Given the description of an element on the screen output the (x, y) to click on. 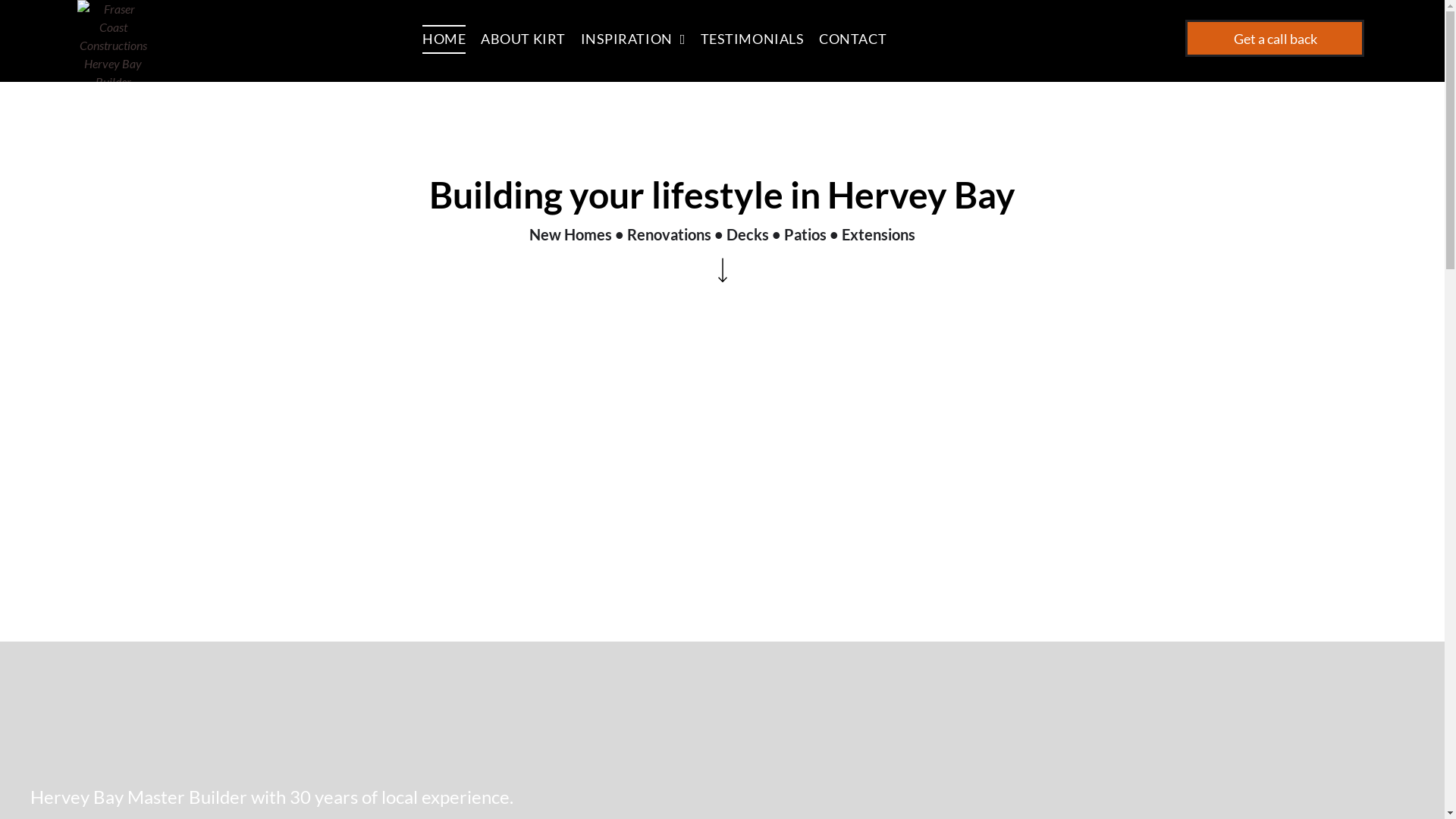
CONTACT Element type: text (860, 39)
INSPIRATION Element type: text (640, 39)
Get a call back Element type: text (1274, 37)
TESTIMONIALS Element type: text (759, 39)
ABOUT KIRT Element type: text (530, 39)
HOME Element type: text (451, 39)
